Given the description of an element on the screen output the (x, y) to click on. 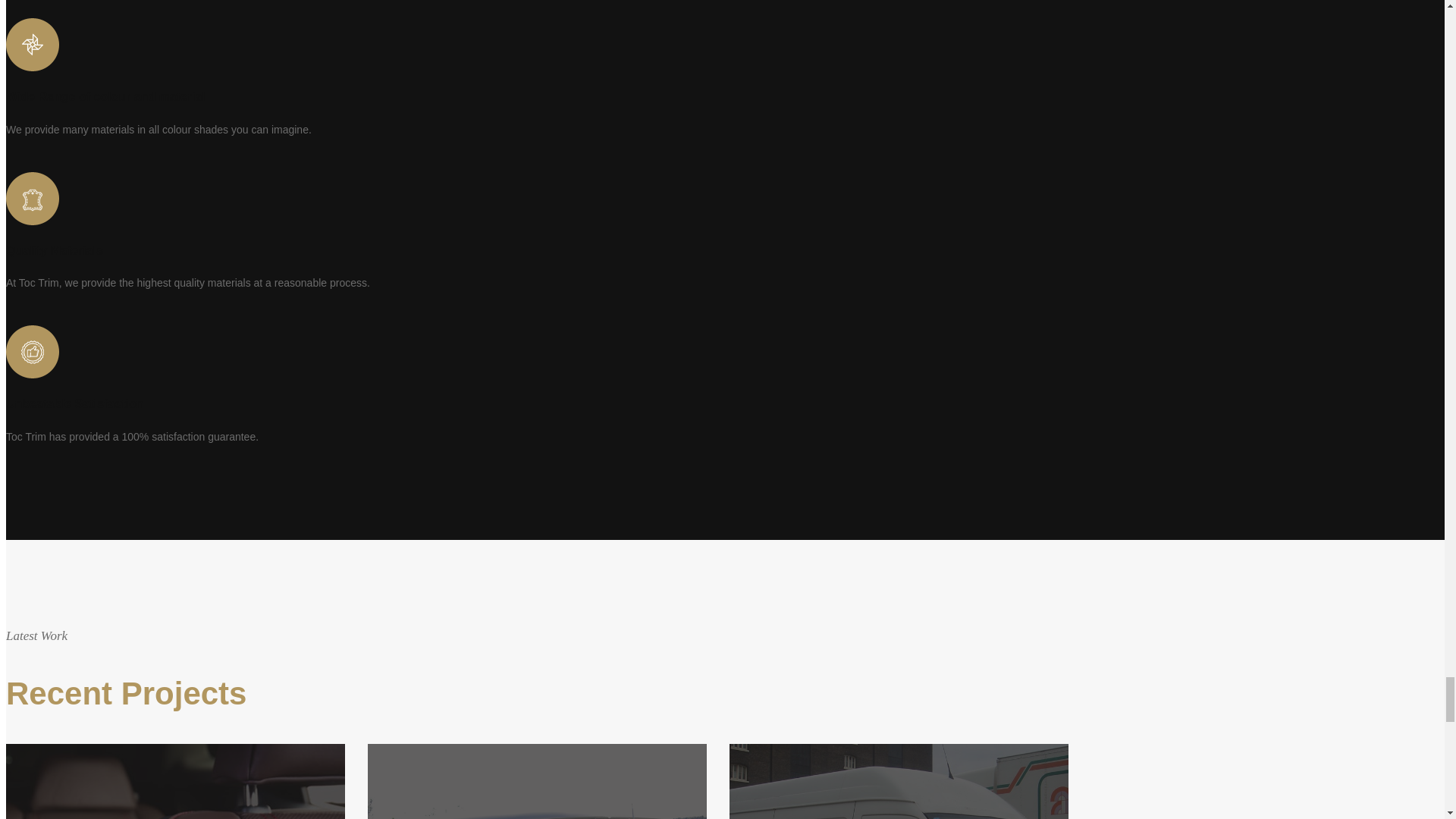
Van Conversions (537, 781)
Car Trimming (175, 781)
Bigger Vans (898, 781)
